Given the description of an element on the screen output the (x, y) to click on. 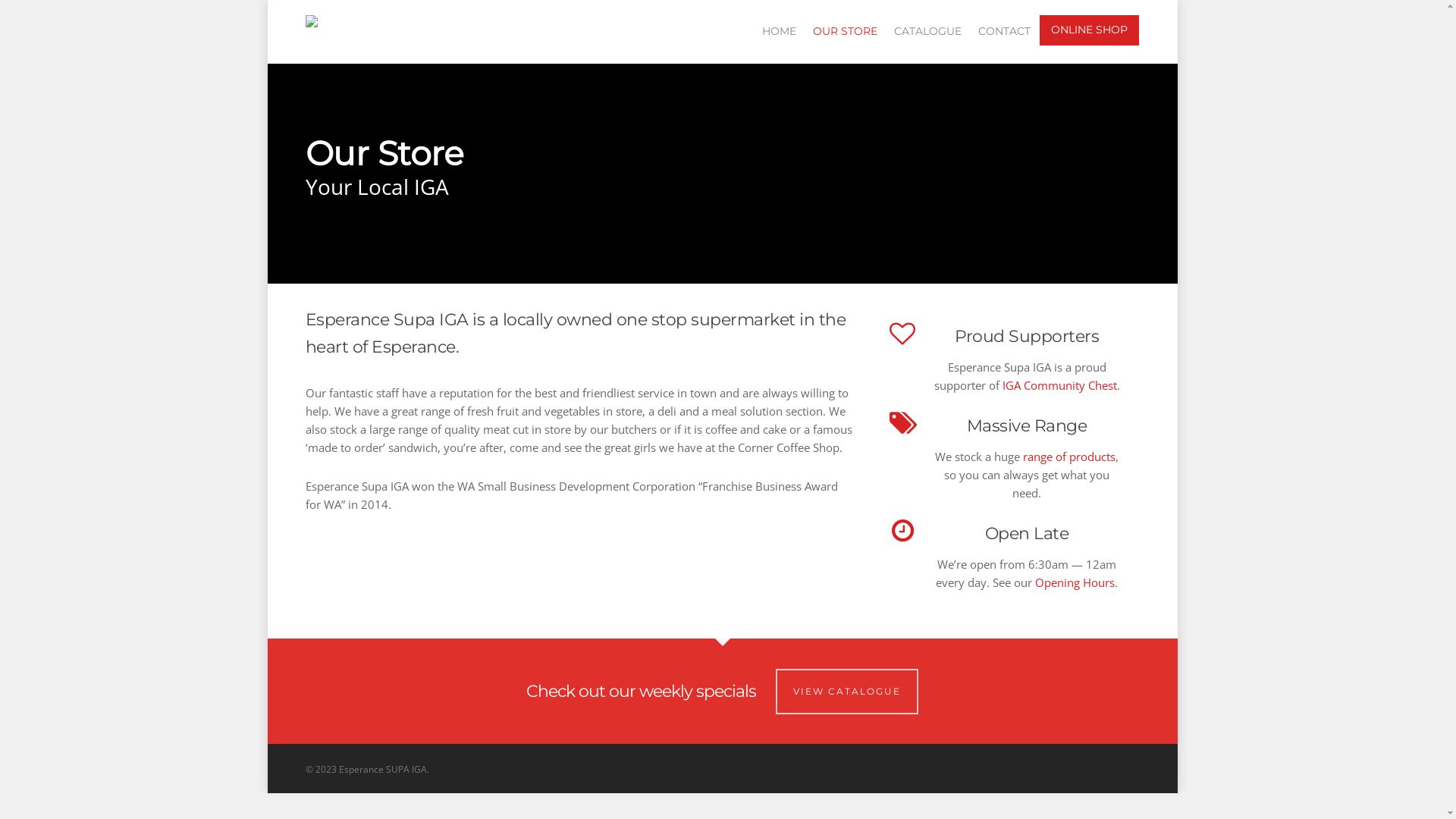
range of products Element type: text (1068, 456)
OUR STORE Element type: text (844, 39)
CONTACT Element type: text (1004, 39)
IGA Community Chest Element type: text (1059, 384)
CATALOGUE Element type: text (926, 39)
ONLINE SHOP Element type: text (1088, 30)
Opening Hours Element type: text (1074, 581)
HOME Element type: text (778, 39)
VIEW CATALOGUE Element type: text (846, 691)
